Given the description of an element on the screen output the (x, y) to click on. 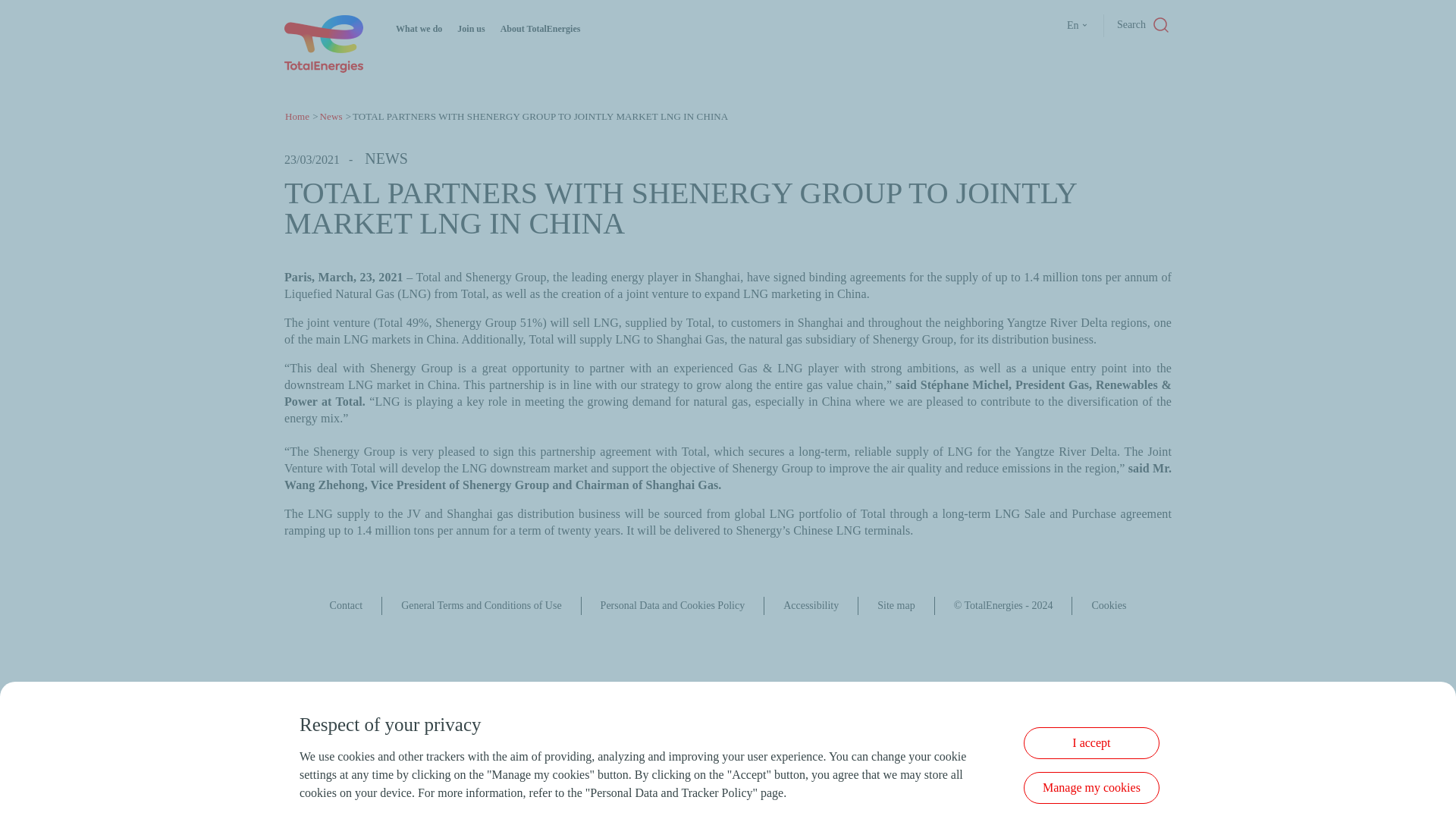
English version (1080, 25)
Accessibility (810, 604)
Personal Data and Cookies Policy (672, 604)
Search (1131, 25)
Site map (895, 604)
General Terms and Conditions of Use (480, 604)
What we do (419, 28)
En (1080, 25)
Cookies (1107, 604)
Join us (470, 28)
Contact (346, 604)
News (331, 116)
About TotalEnergies (540, 28)
Home (296, 116)
